Given the description of an element on the screen output the (x, y) to click on. 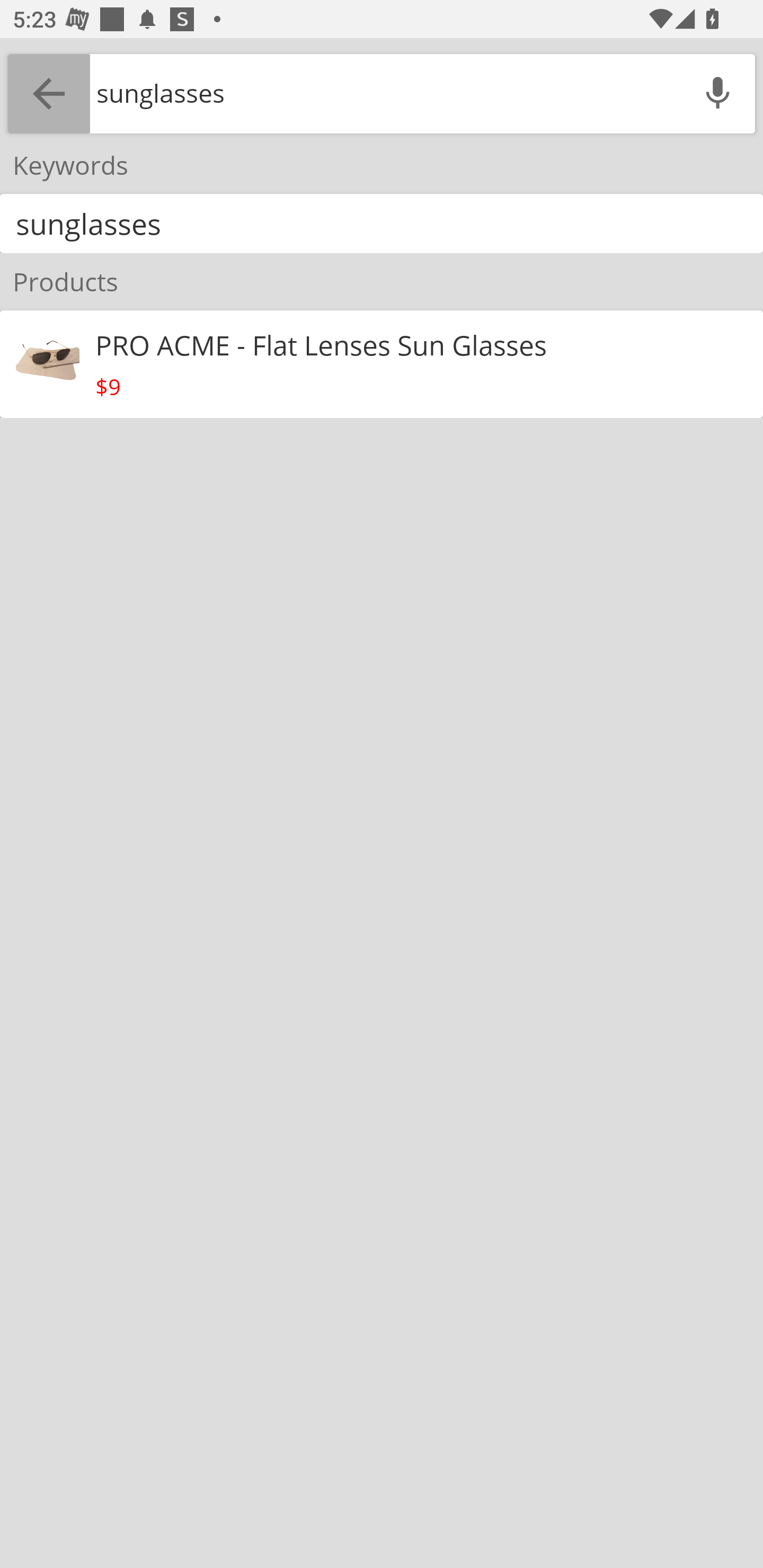
sunglasses (385, 93)
sunglasses (381, 223)
PRO ACME - Flat Lenses Sun Glasses $9 (381, 364)
